Given the description of an element on the screen output the (x, y) to click on. 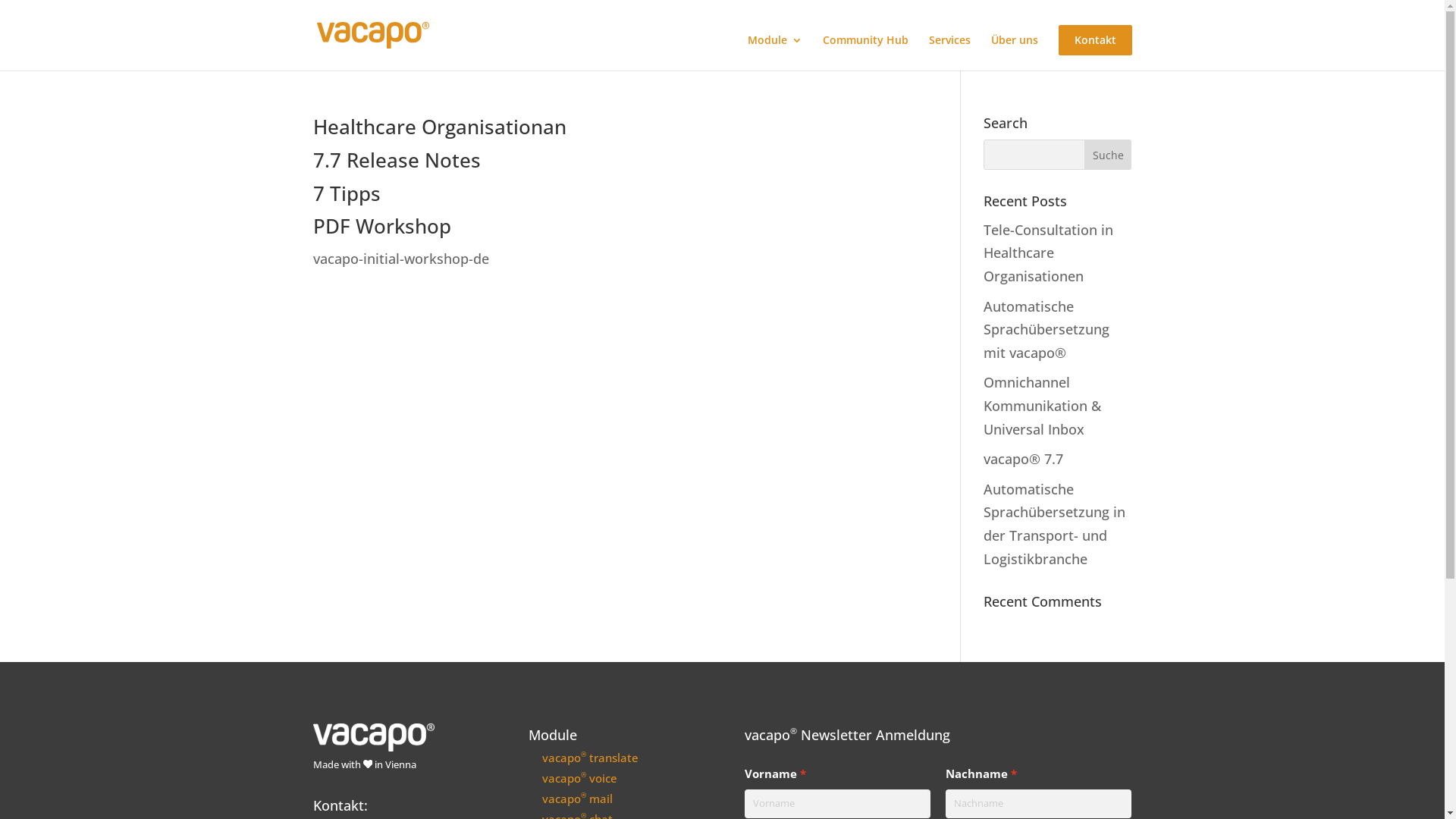
PDF Workshop Element type: text (381, 225)
Community Hub Element type: text (864, 52)
Suche Element type: text (1108, 154)
Tele-Consultation in Healthcare Organisationen Element type: text (1048, 252)
Module Element type: text (774, 52)
Kontakt Element type: text (1095, 40)
7.7 Release Notes Element type: text (396, 159)
Healthcare Organisationan Element type: text (438, 126)
Omnichannel Kommunikation & Universal Inbox Element type: text (1042, 405)
Services Element type: text (948, 52)
7 Tipps Element type: text (345, 193)
